Given the description of an element on the screen output the (x, y) to click on. 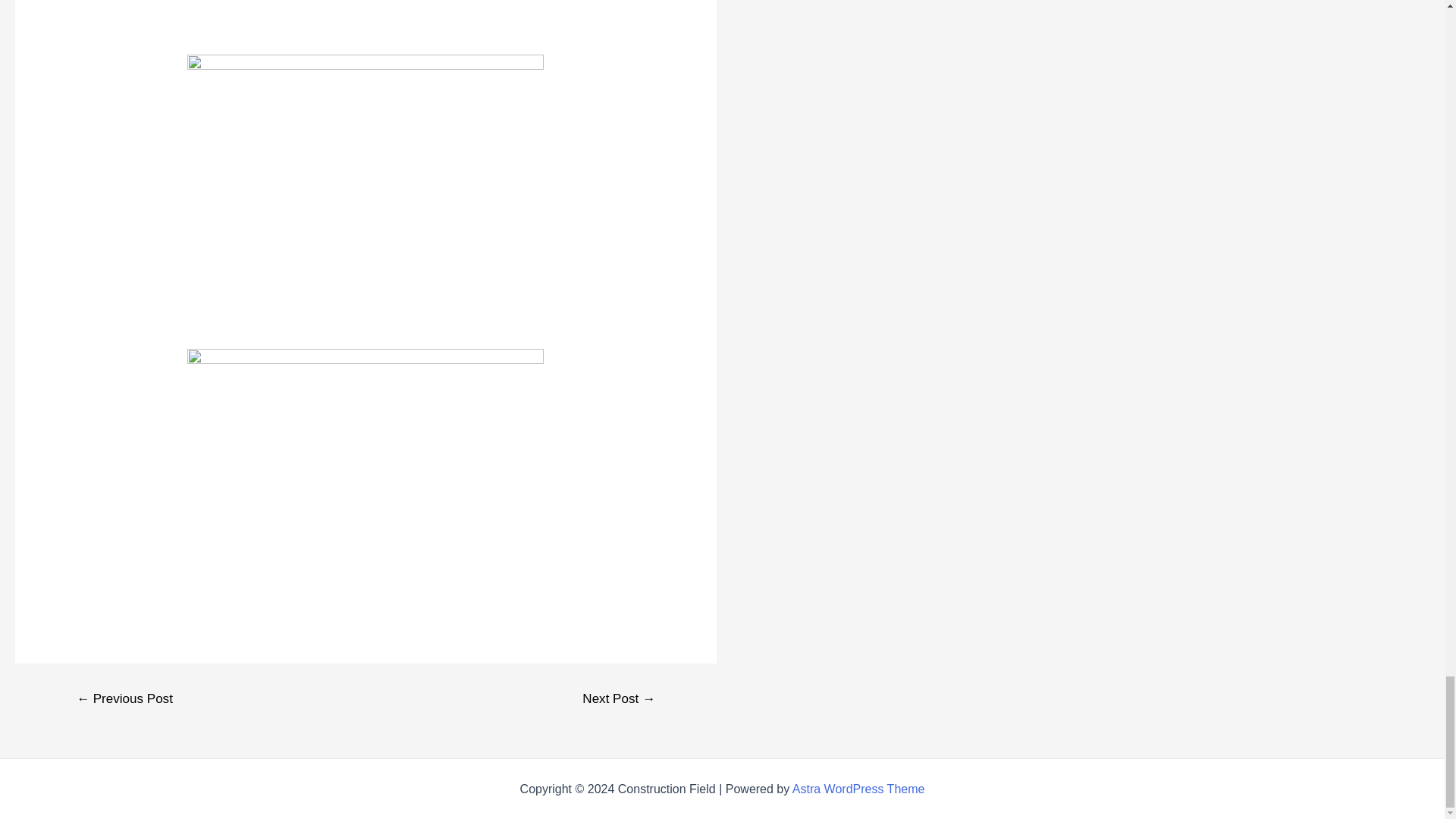
Astra WordPress Theme (858, 788)
